Given the description of an element on the screen output the (x, y) to click on. 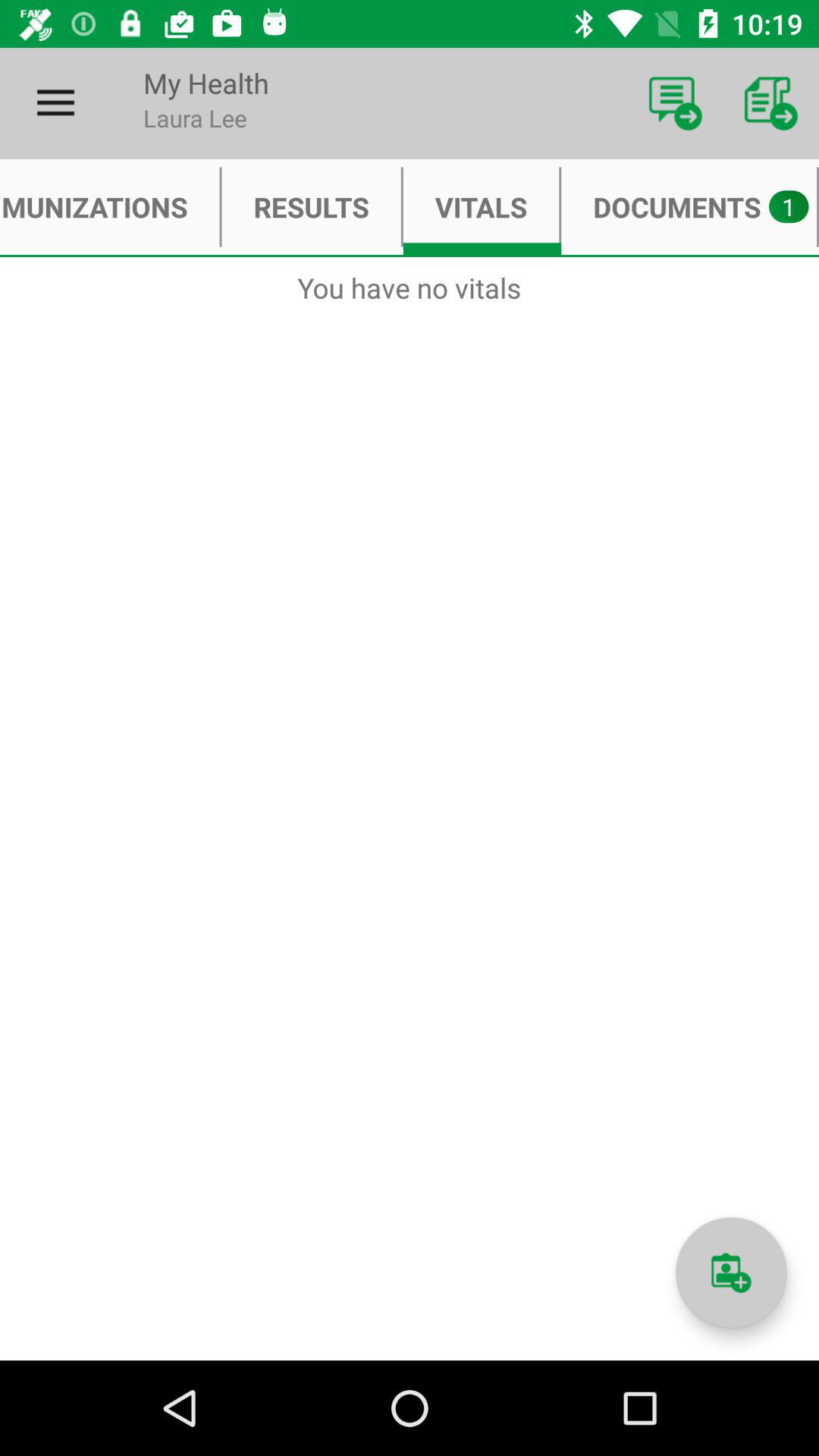
turn on icon above the immunizations item (55, 103)
